Given the description of an element on the screen output the (x, y) to click on. 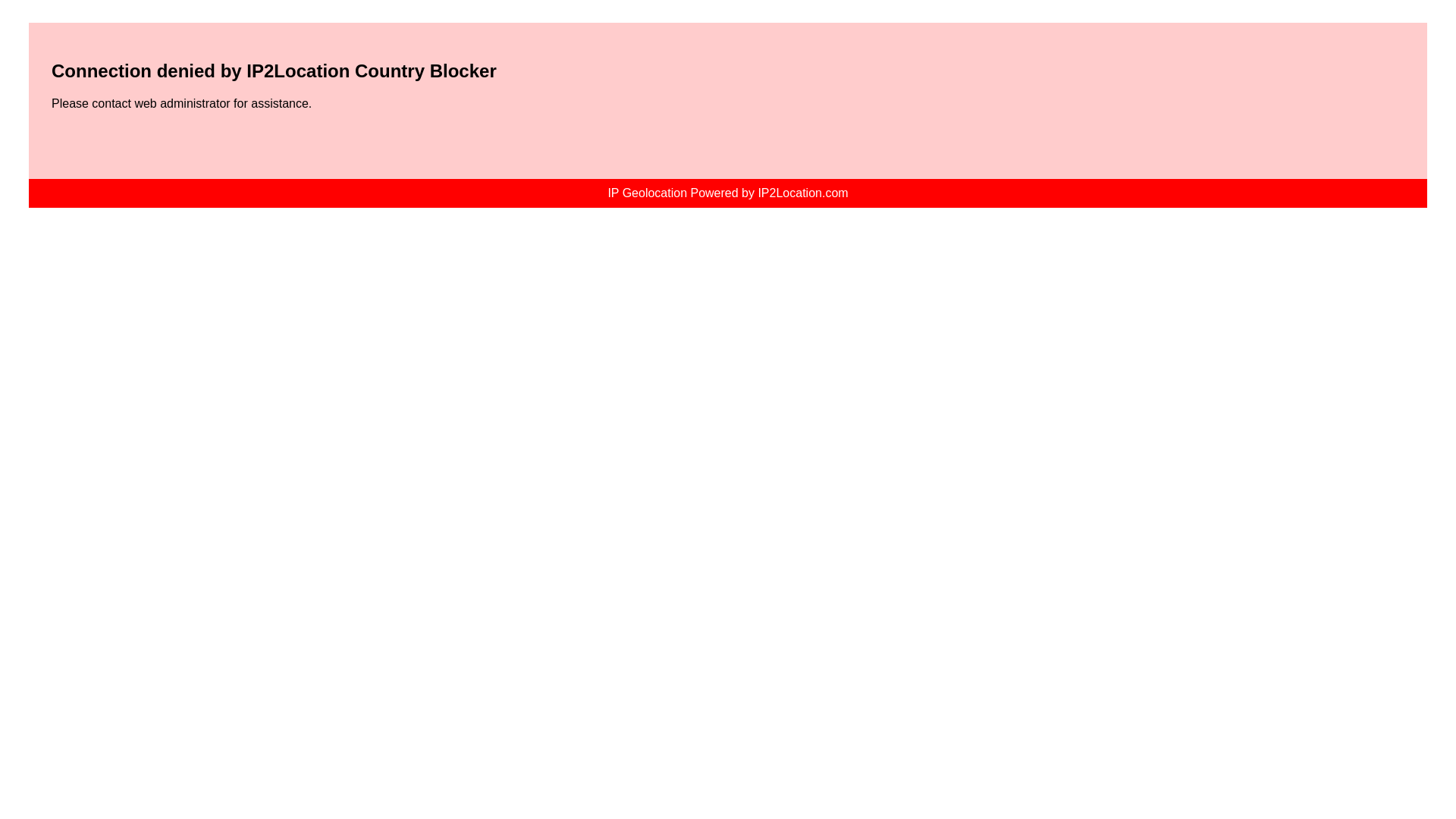
IP Geolocation Powered by IP2Location.com Element type: text (727, 192)
